Given the description of an element on the screen output the (x, y) to click on. 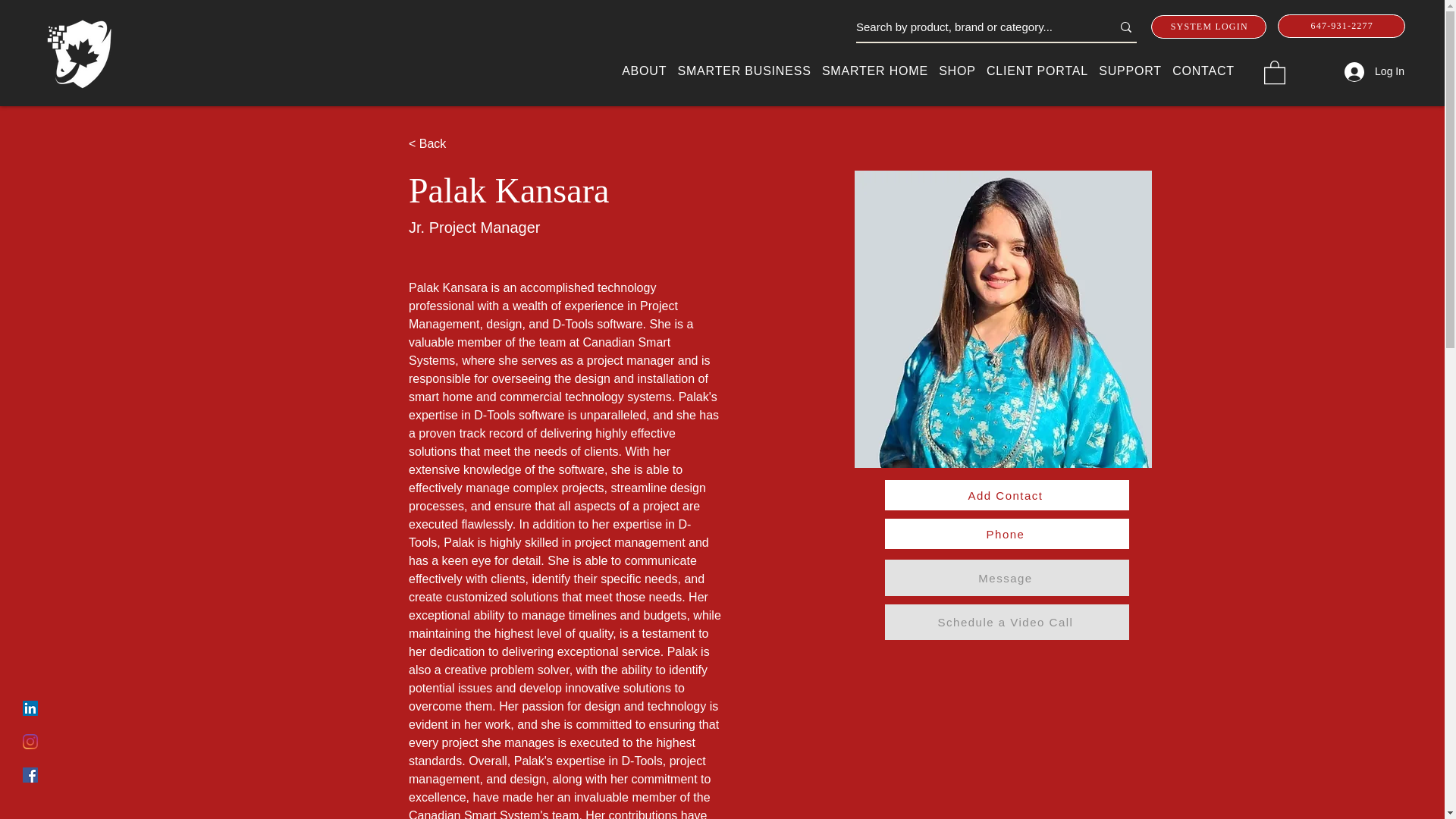
647-931-2277 (1341, 25)
ABOUT (643, 70)
SYSTEM LOGIN (1208, 26)
SMARTER HOME (874, 70)
SMARTER BUSINESS (742, 70)
